Given the description of an element on the screen output the (x, y) to click on. 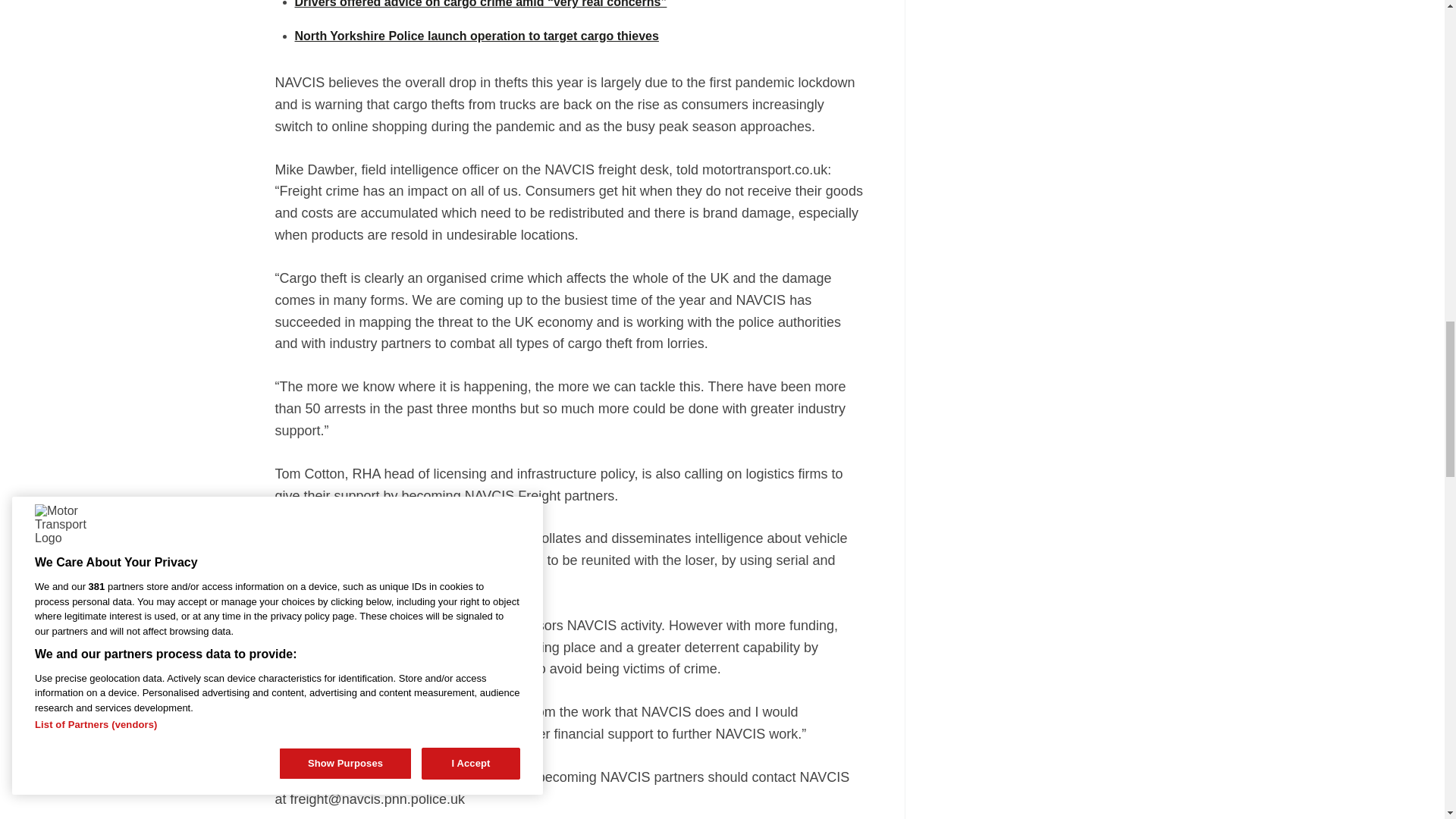
3rd party ad content (1056, 54)
